Given the description of an element on the screen output the (x, y) to click on. 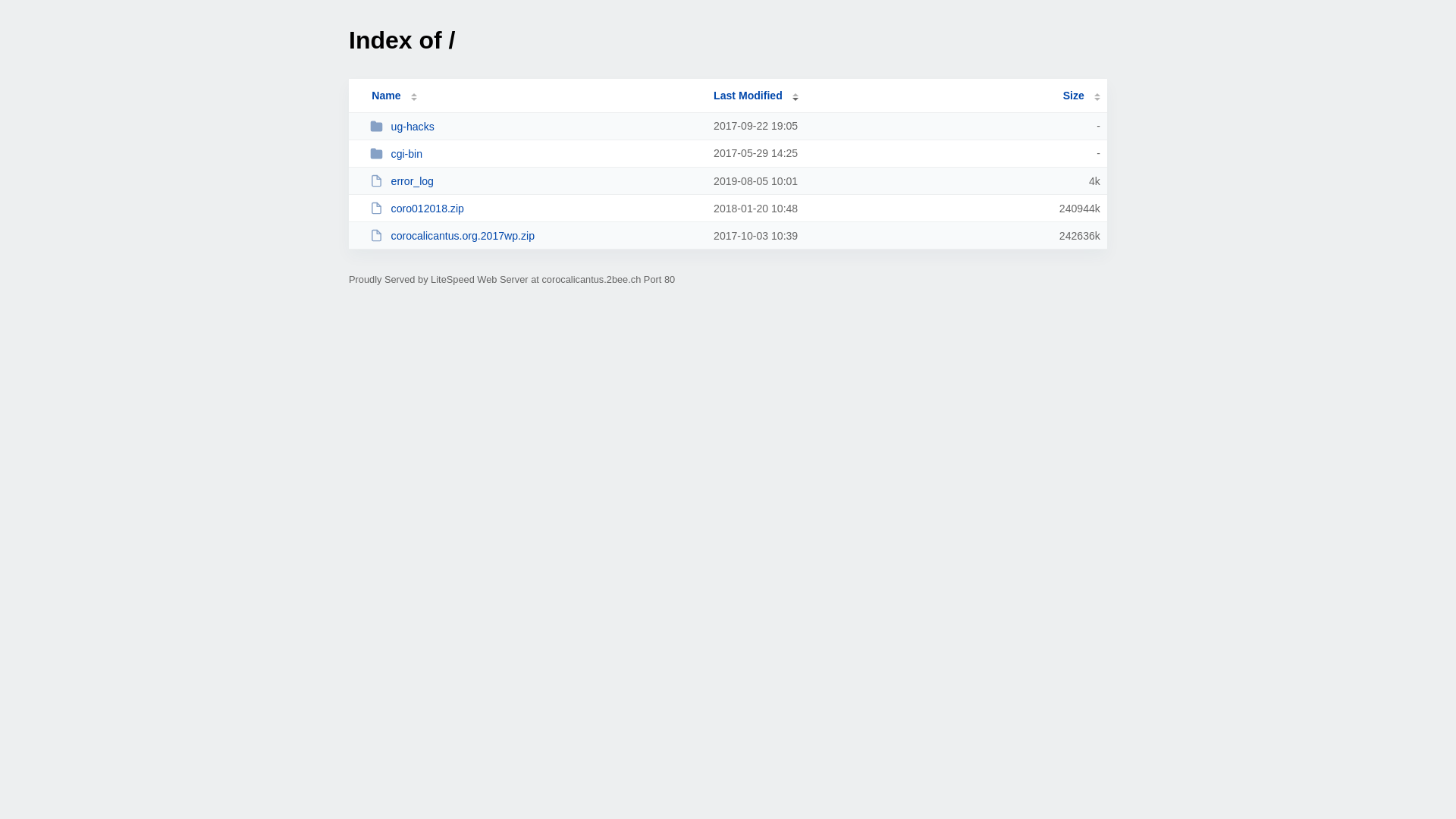
Size Element type: text (1081, 95)
Last Modified Element type: text (755, 95)
corocalicantus.org.2017wp.zip Element type: text (534, 235)
Name Element type: text (385, 95)
cgi-bin Element type: text (534, 153)
coro012018.zip Element type: text (534, 207)
ug-hacks Element type: text (534, 125)
error_log Element type: text (534, 180)
